Given the description of an element on the screen output the (x, y) to click on. 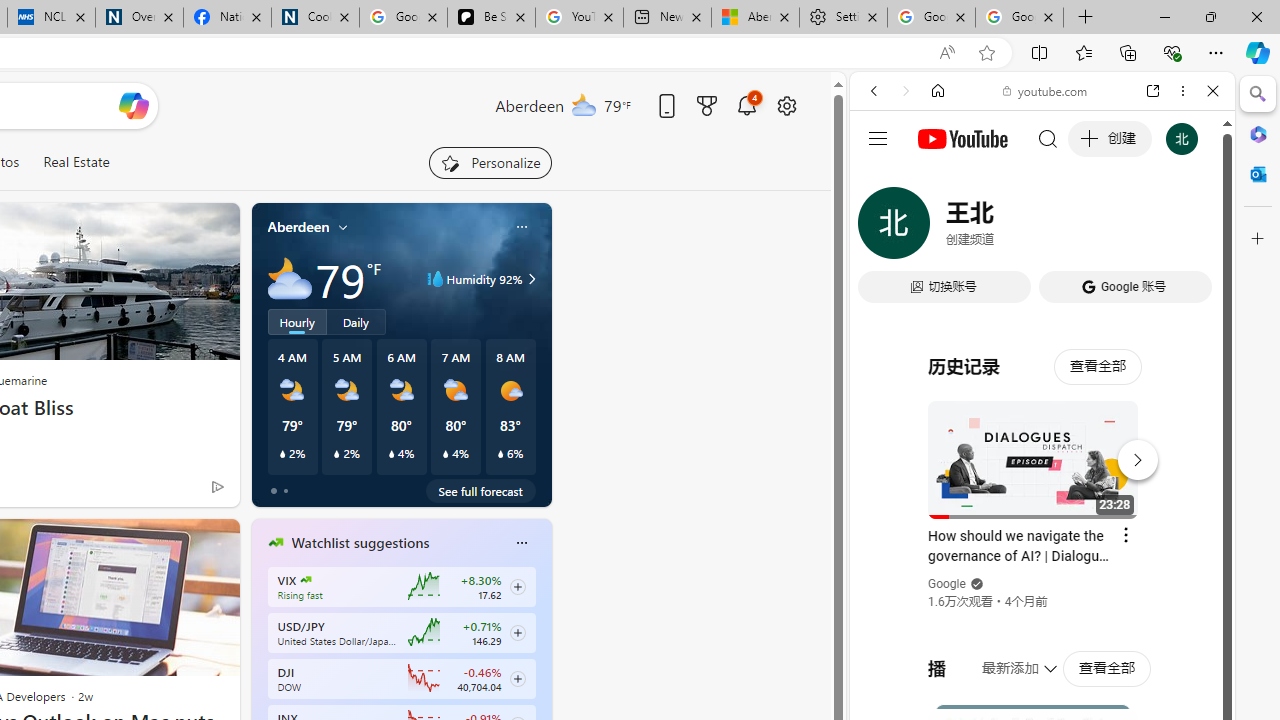
next (541, 670)
Personalize your feed" (489, 162)
Class: follow-button  m (517, 678)
Hide this story (178, 542)
Show More Music (1164, 546)
